Given the description of an element on the screen output the (x, y) to click on. 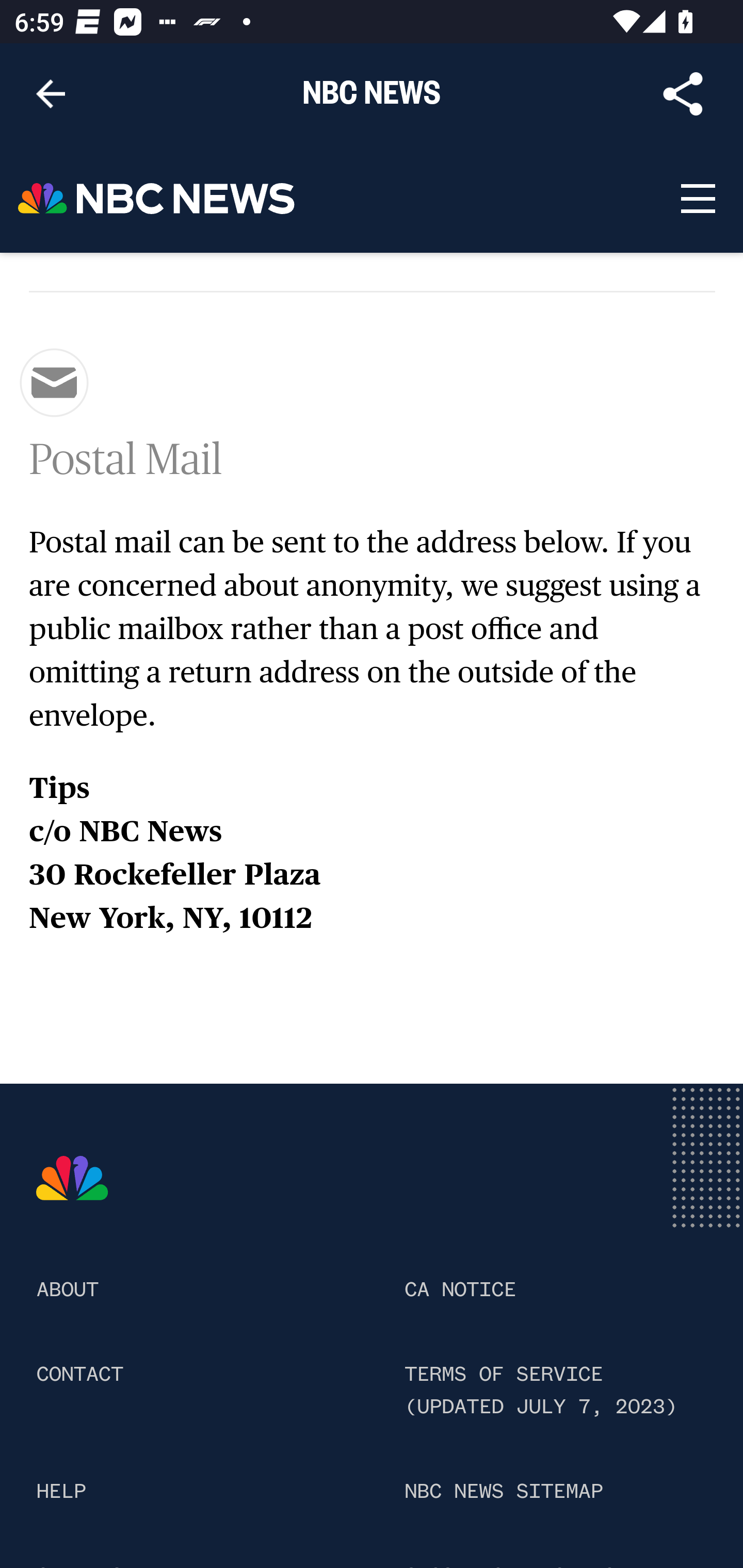
Navigate up (50, 93)
Share Article, button (683, 94)
NBC News Logo (156, 199)
news navigation and search (696, 199)
www.nbcnews (72, 1180)
ABOUT (67, 1290)
CA NOTICE (459, 1290)
CONTACT (80, 1374)
TERMS OF SERVICE (UPDATED JULY 7, 2023) (540, 1390)
HELP (61, 1491)
NBC NEWS SITEMAP (502, 1491)
